Given the description of an element on the screen output the (x, y) to click on. 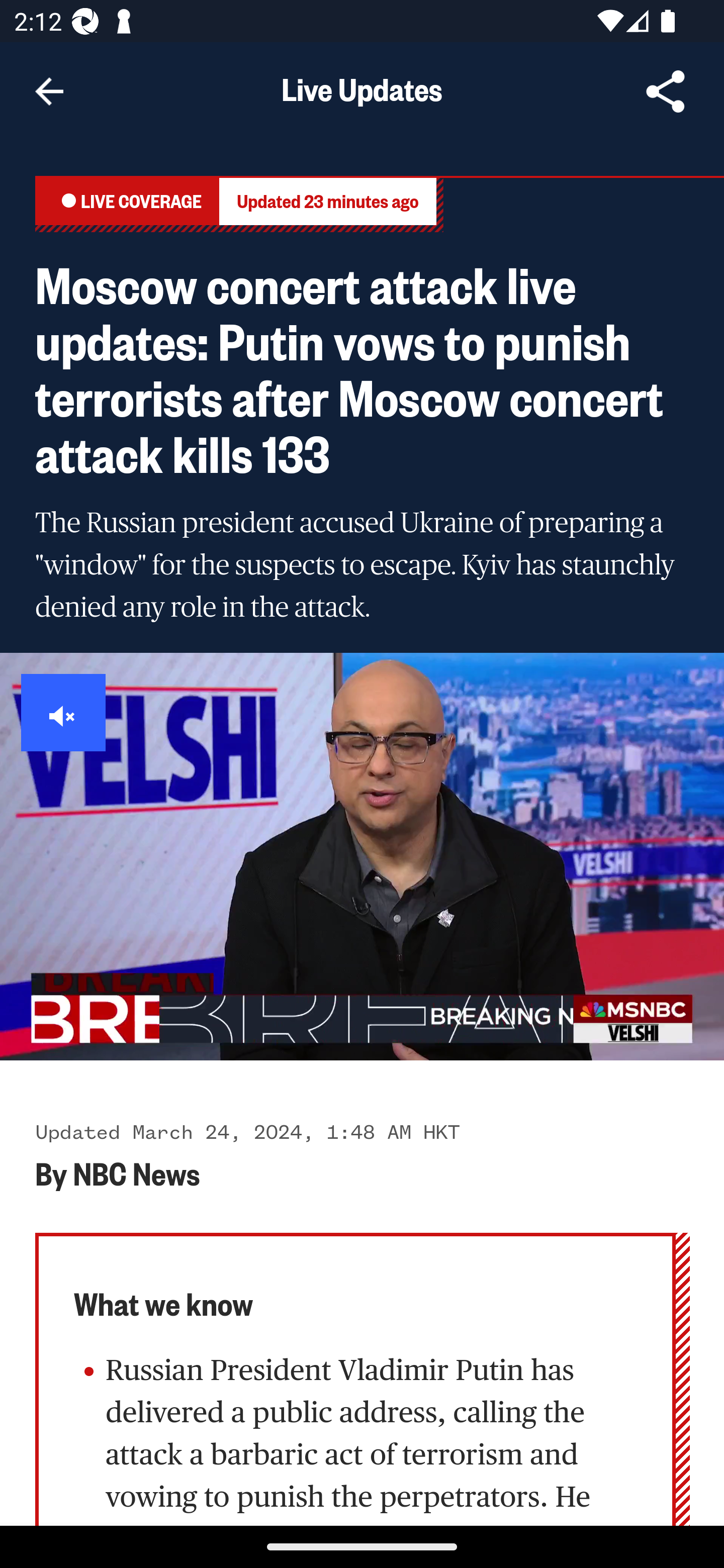
Navigate up (49, 91)
Share Article, button (665, 91)
 (63, 712)
